Given the description of an element on the screen output the (x, y) to click on. 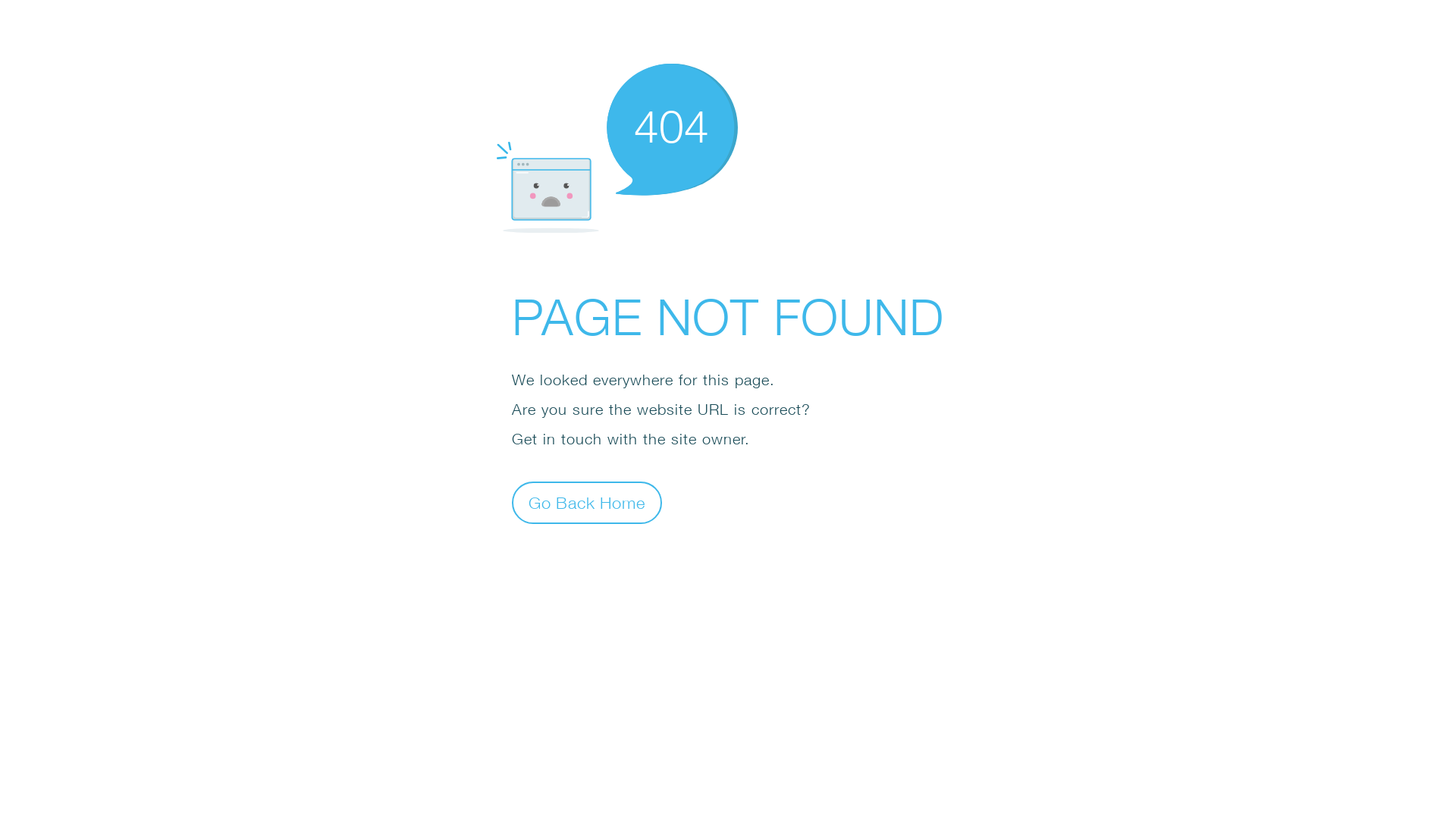
Go Back Home Element type: text (586, 502)
